Given the description of an element on the screen output the (x, y) to click on. 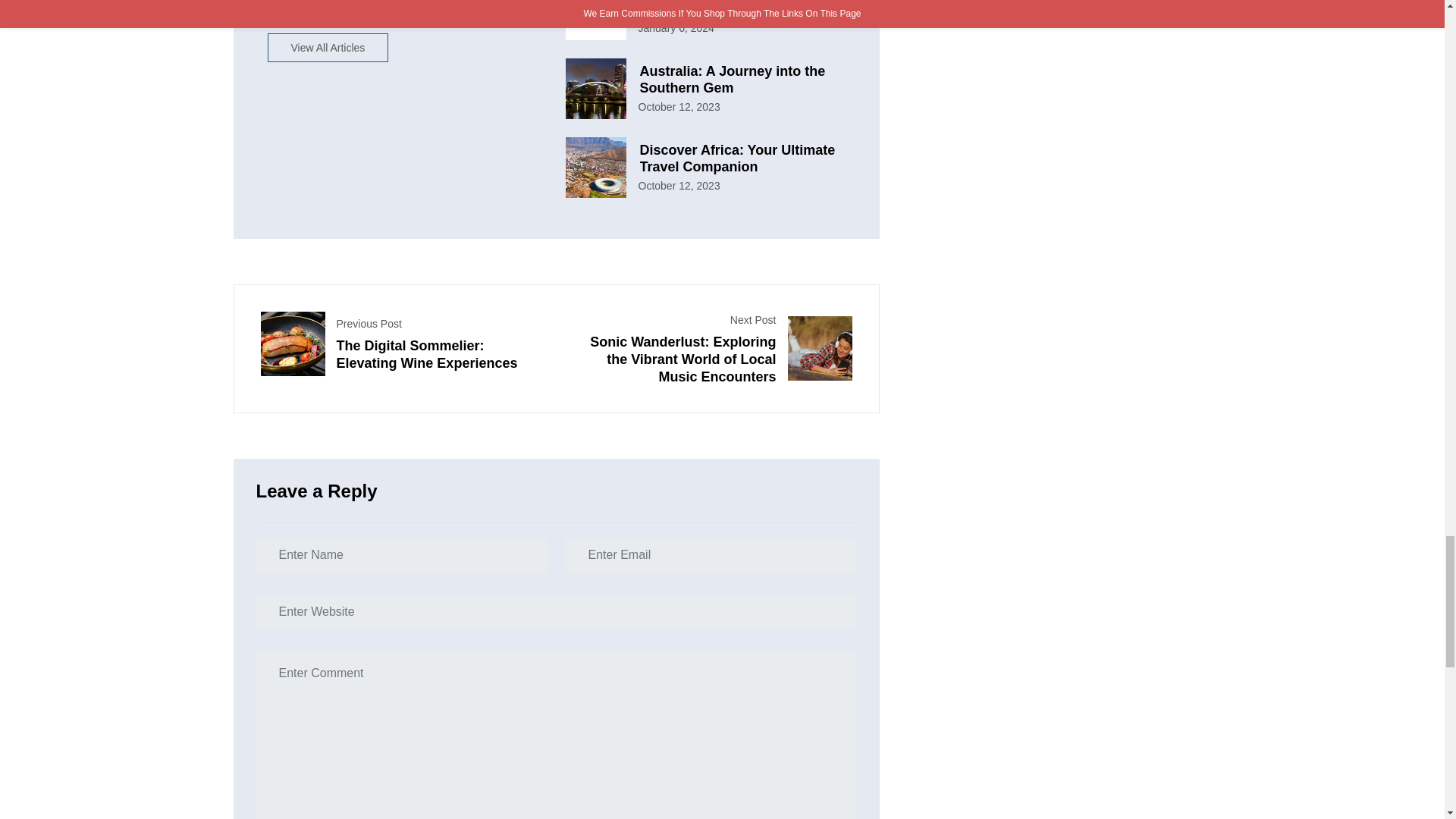
The Digital Sommelier: Elevating Wine Experiences (435, 354)
Australia: A Journey into the Southern Gem (742, 80)
Discover Africa: Your Ultimate Travel Companion (742, 158)
View All Articles (327, 47)
Abritel: Your Gateway to Dream Vacations in 2024 (742, 9)
